Given the description of an element on the screen output the (x, y) to click on. 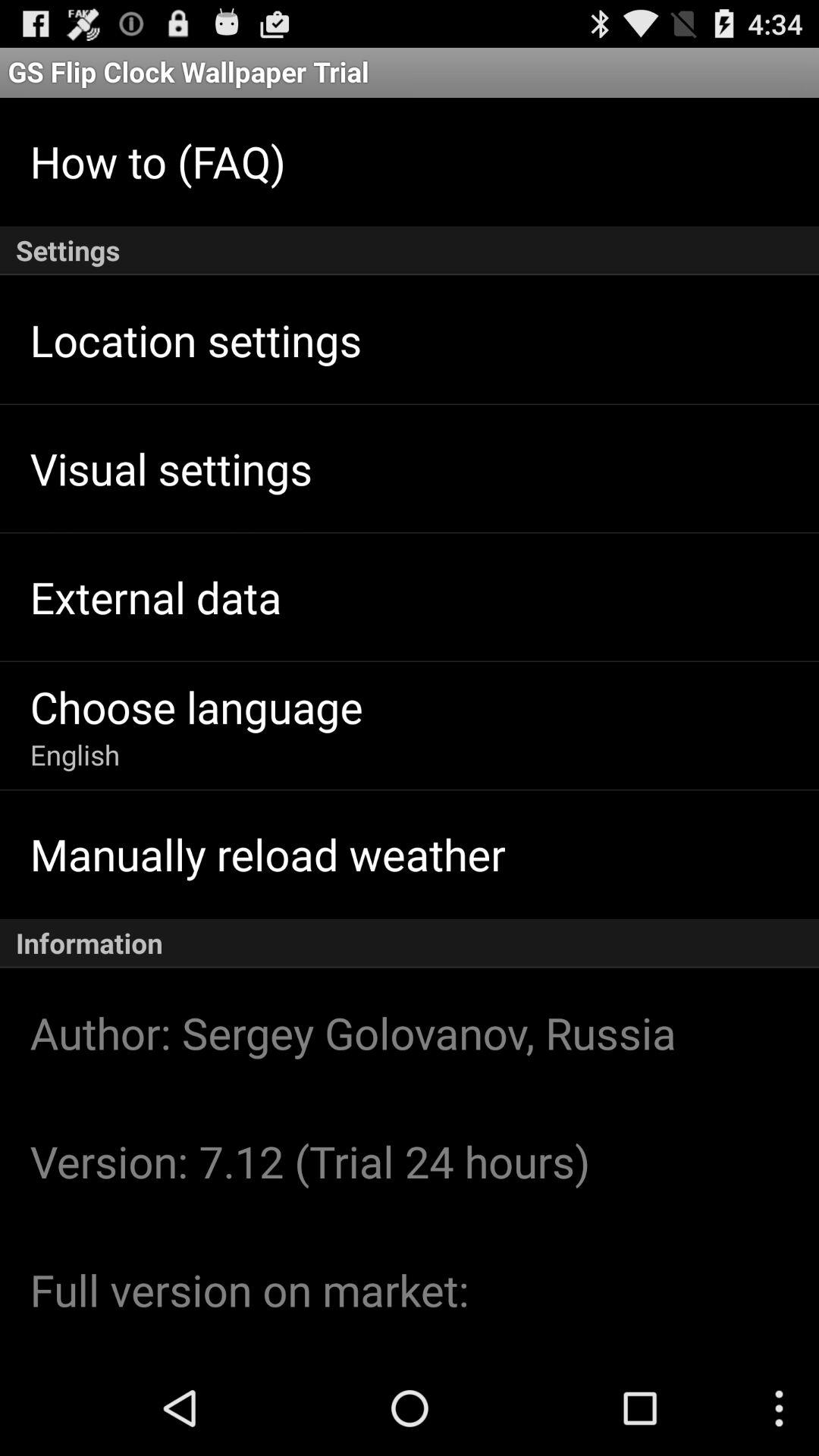
turn off icon below the information (353, 1032)
